Given the description of an element on the screen output the (x, y) to click on. 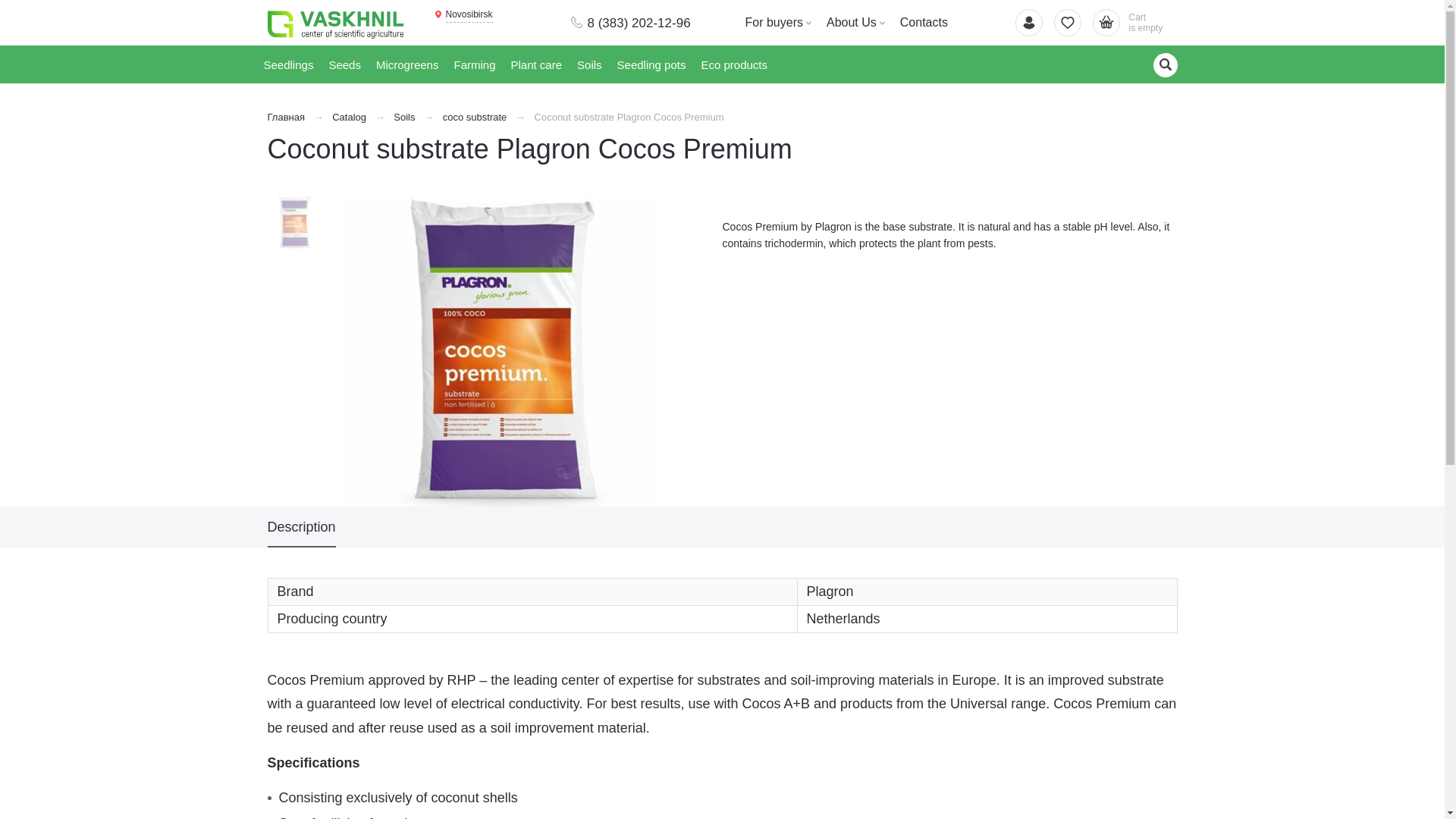
Seedlings (288, 64)
Favorites (1067, 22)
Login (1028, 22)
For buyers (777, 22)
Contacts (923, 22)
Novosibirsk (1134, 22)
About Us (462, 14)
